Given the description of an element on the screen output the (x, y) to click on. 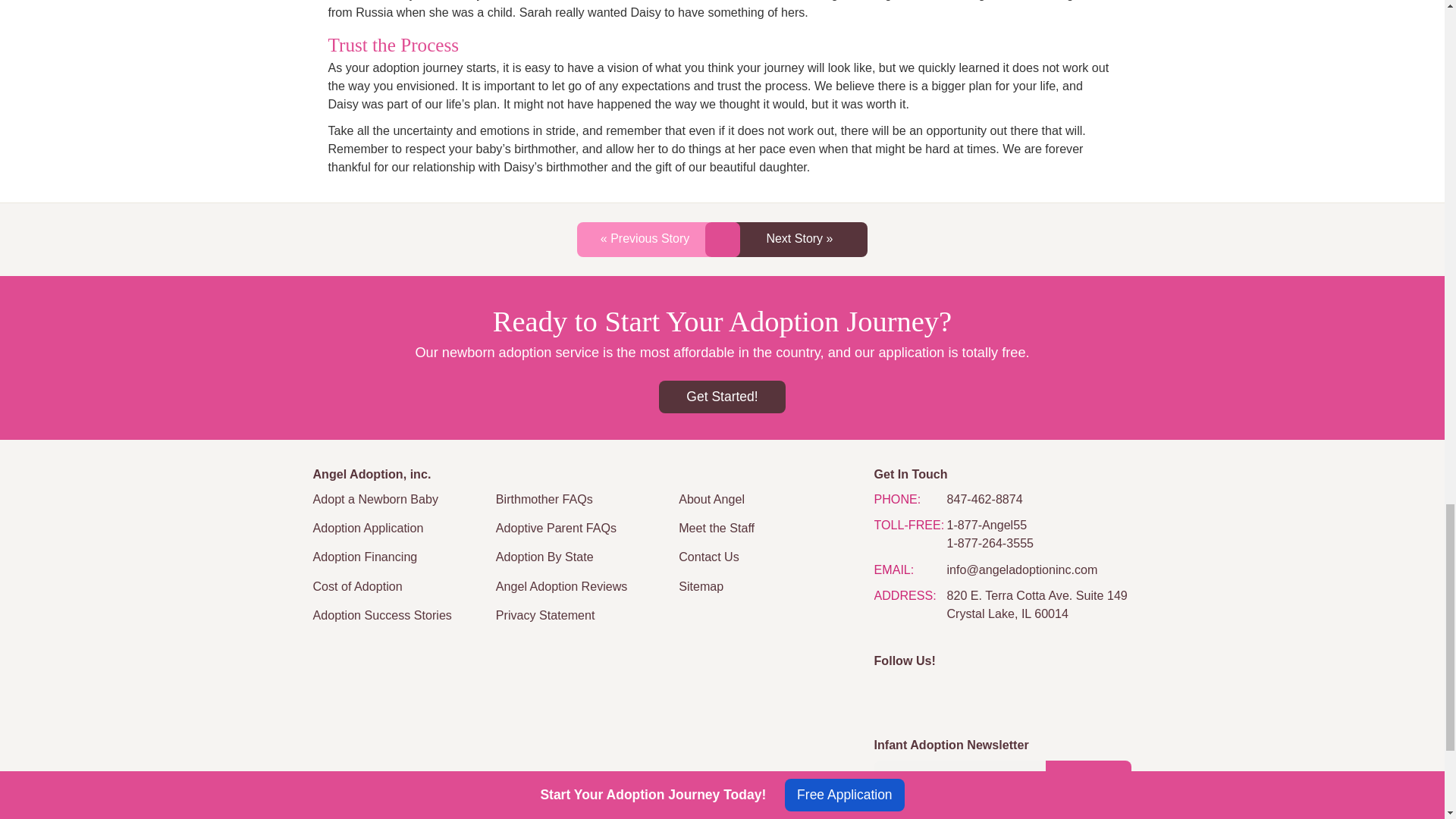
signup! (1088, 777)
